Given the description of an element on the screen output the (x, y) to click on. 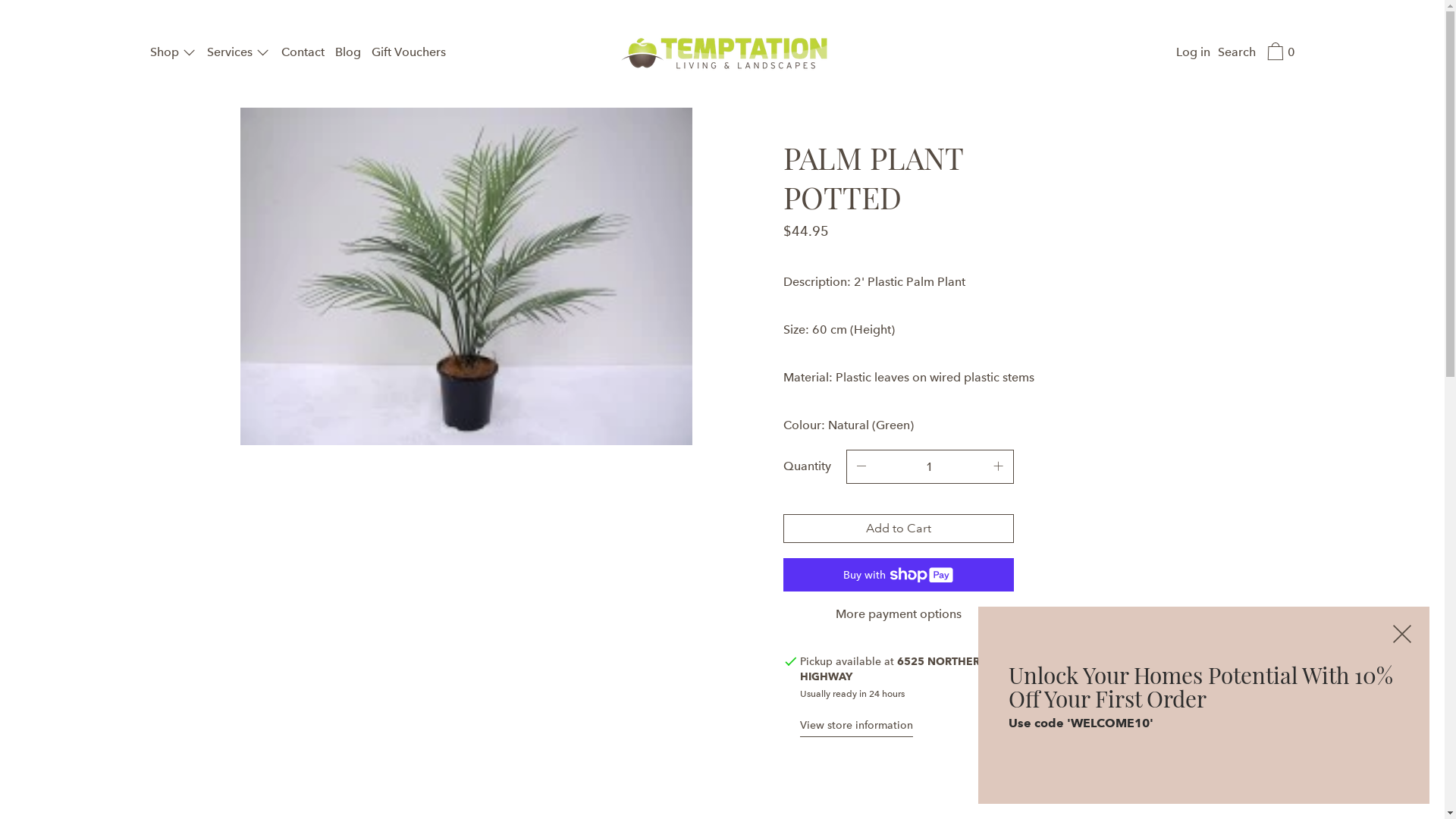
Search Element type: text (1236, 53)
Services Element type: text (238, 53)
Blog Element type: text (347, 53)
View store information Element type: text (856, 726)
0 Element type: text (1279, 53)
More payment options Element type: text (897, 613)
Gift Vouchers Element type: text (408, 53)
Log in Element type: text (1192, 53)
Contact Element type: text (301, 53)
Shop Element type: text (172, 53)
Add to Cart Element type: text (897, 528)
